Given the description of an element on the screen output the (x, y) to click on. 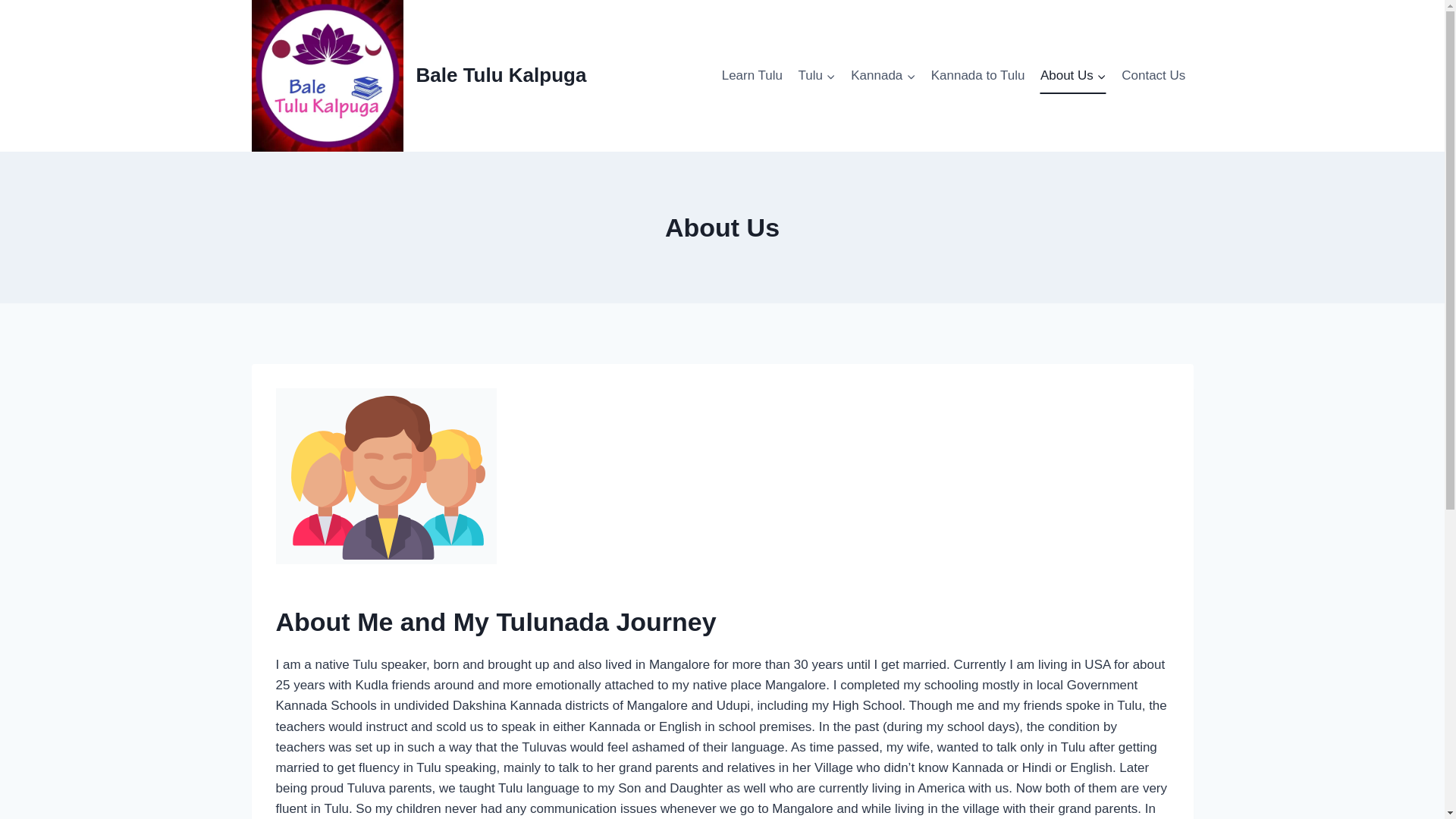
Kannada (883, 75)
Tulu (816, 75)
Contact Us (1152, 75)
Learn Tulu (752, 75)
About Us (1072, 75)
Bale Tulu Kalpuga (418, 75)
Kannada to Tulu (977, 75)
